Given the description of an element on the screen output the (x, y) to click on. 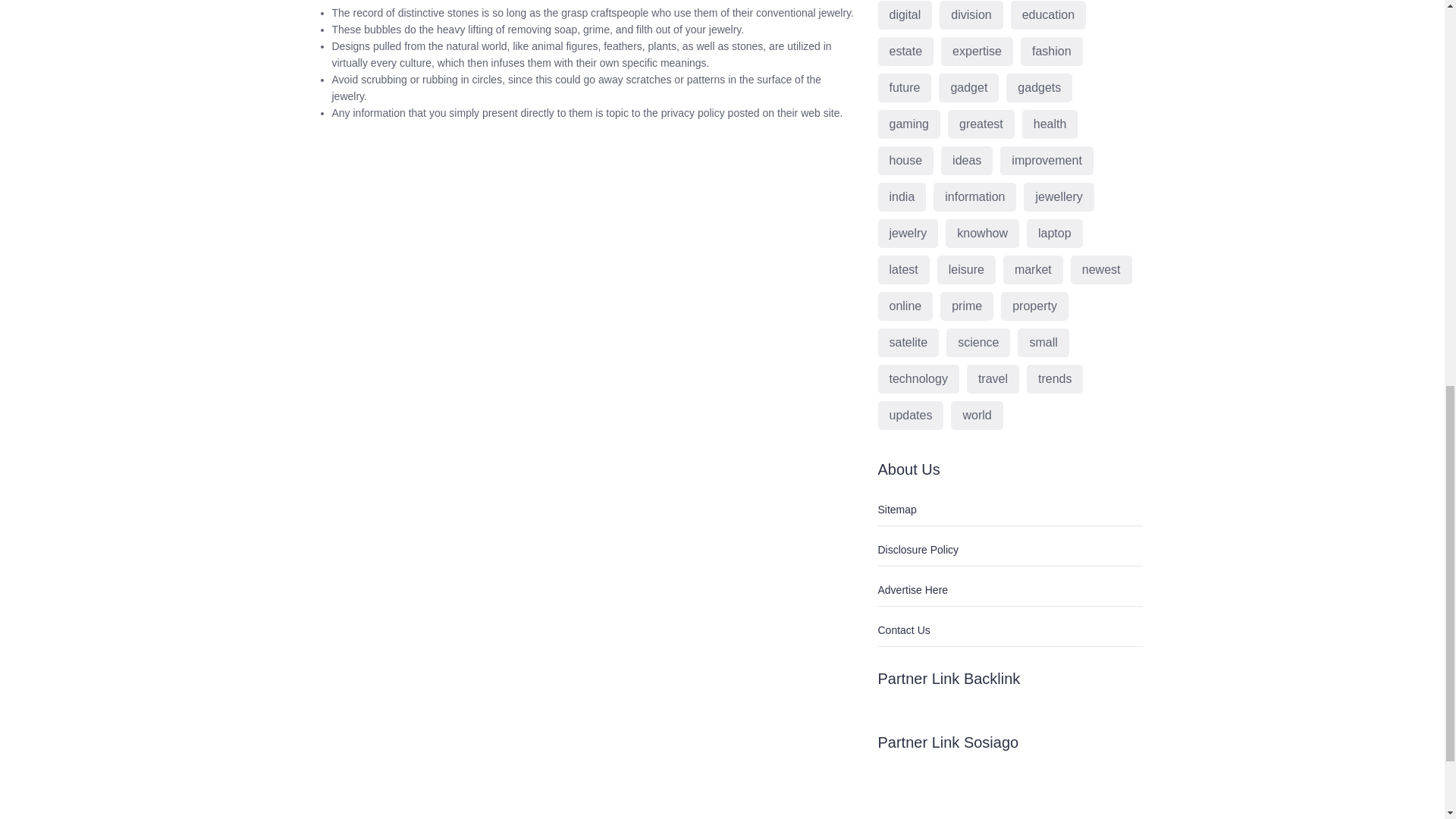
education (1048, 14)
estate (905, 51)
digital (905, 14)
division (971, 14)
